Given the description of an element on the screen output the (x, y) to click on. 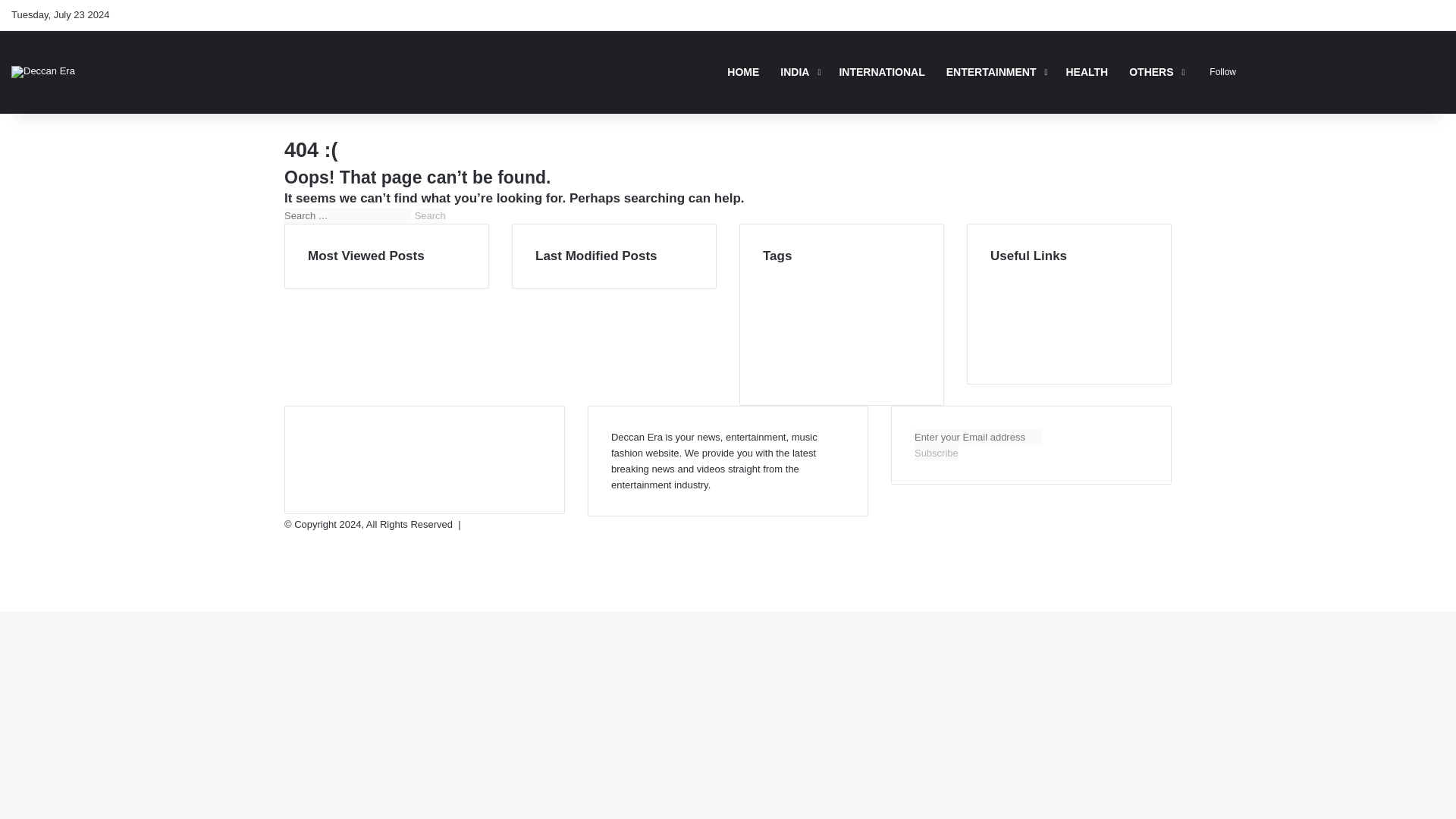
Contact Us (1014, 352)
Home (1003, 273)
Search (429, 215)
INTERNATIONAL (881, 71)
Covid19 Vaccination (870, 289)
UP: RSS worker thrashed by cops (823, 373)
Search (429, 215)
Subscribe (936, 453)
Disclaimer (1013, 305)
ENTERTAINMENT (995, 71)
Search (429, 215)
BJD (769, 273)
Deccan Era (43, 71)
Parliament Monsoon session from Monday (838, 307)
